Given the description of an element on the screen output the (x, y) to click on. 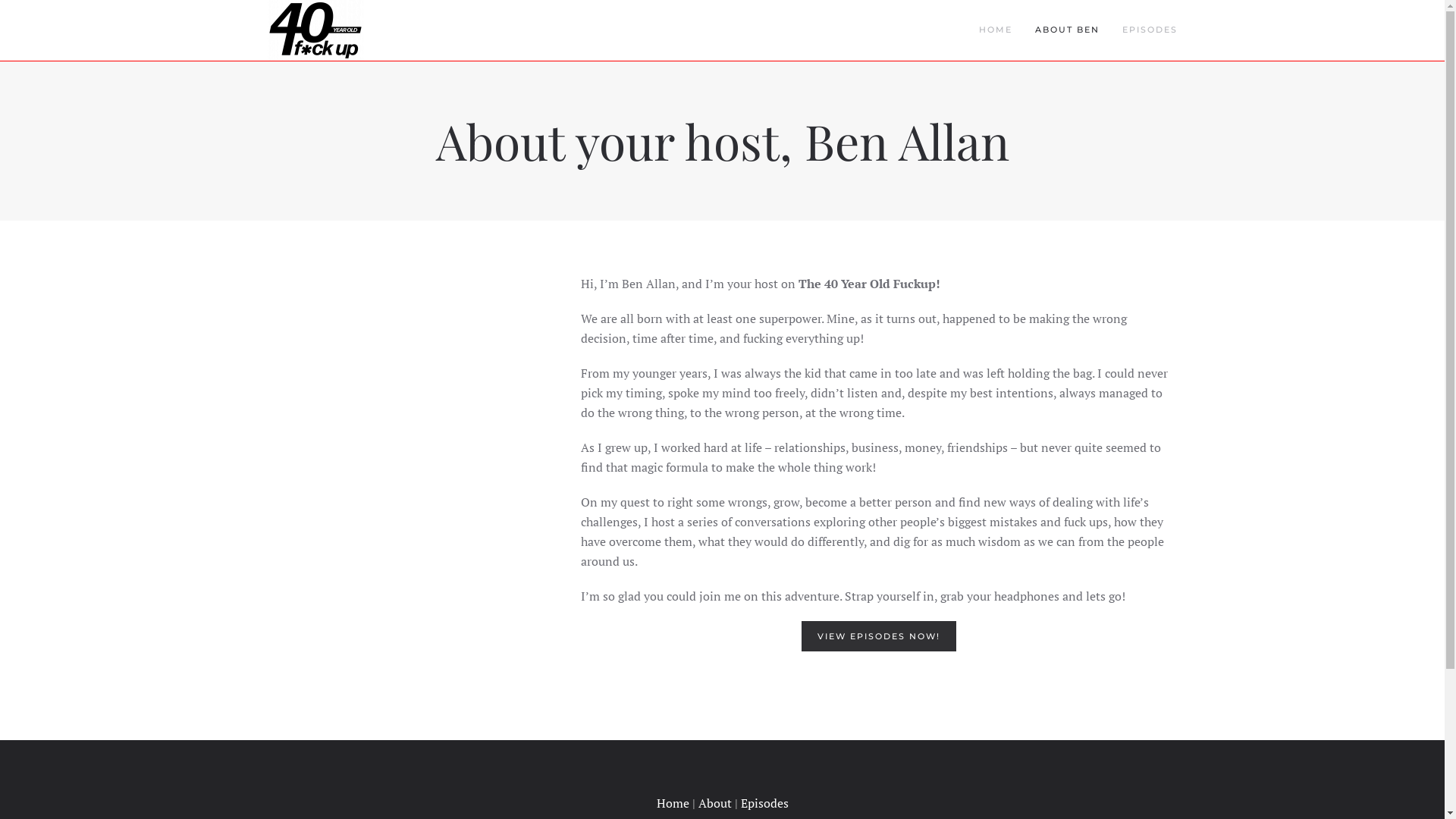
About Element type: text (714, 802)
EPISODES Element type: text (1149, 30)
VIEW EPISODES NOW! Element type: text (878, 636)
HOME Element type: text (995, 30)
Home Element type: text (672, 802)
ABOUT BEN Element type: text (1066, 30)
Episodes Element type: text (763, 802)
